Given the description of an element on the screen output the (x, y) to click on. 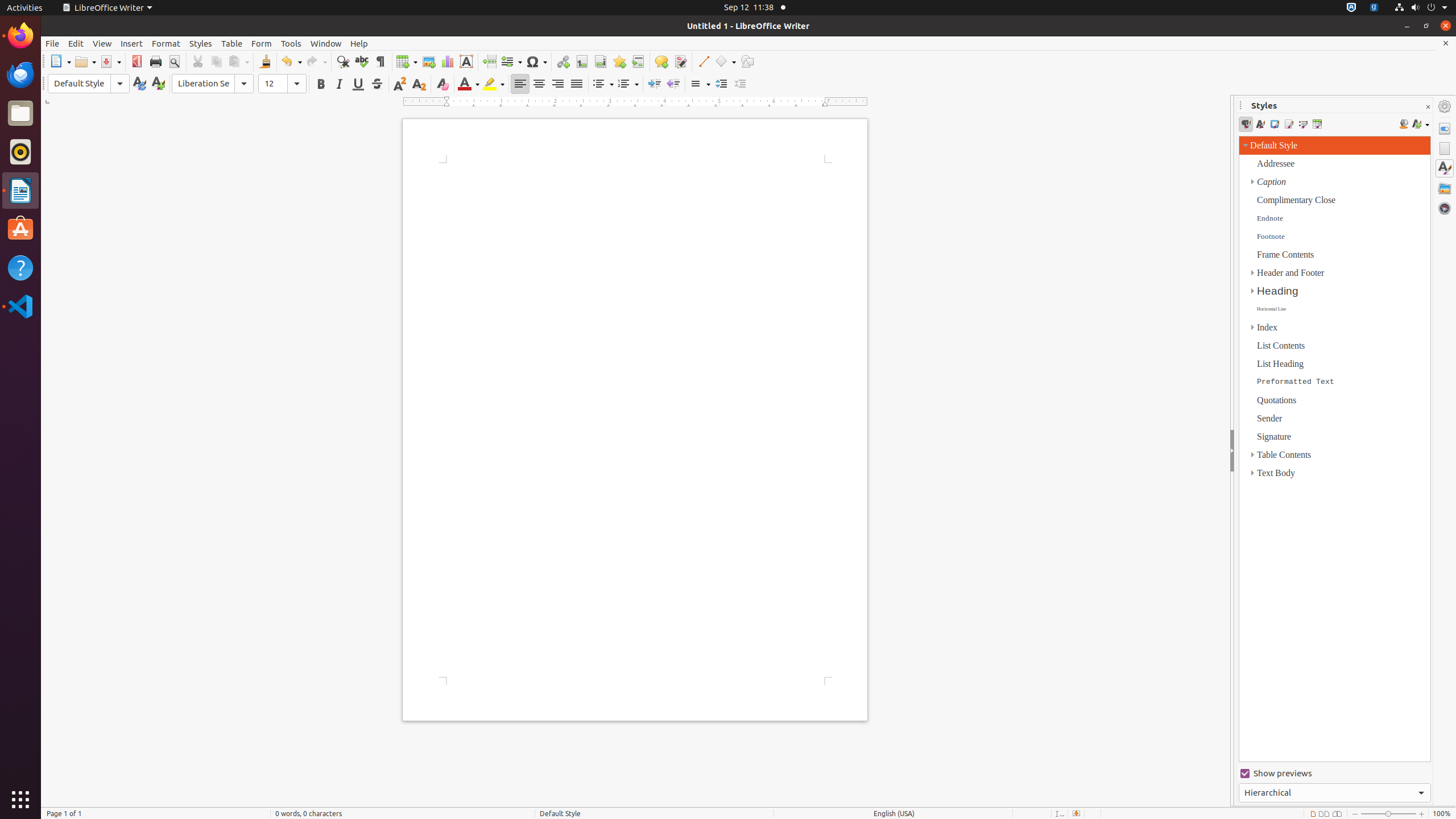
Paragraph Style Element type: combo-box (88, 83)
PDF Element type: push-button (136, 61)
Print Preview Element type: toggle-button (173, 61)
Rhythmbox Element type: push-button (20, 151)
New Element type: push-button (157, 83)
